Given the description of an element on the screen output the (x, y) to click on. 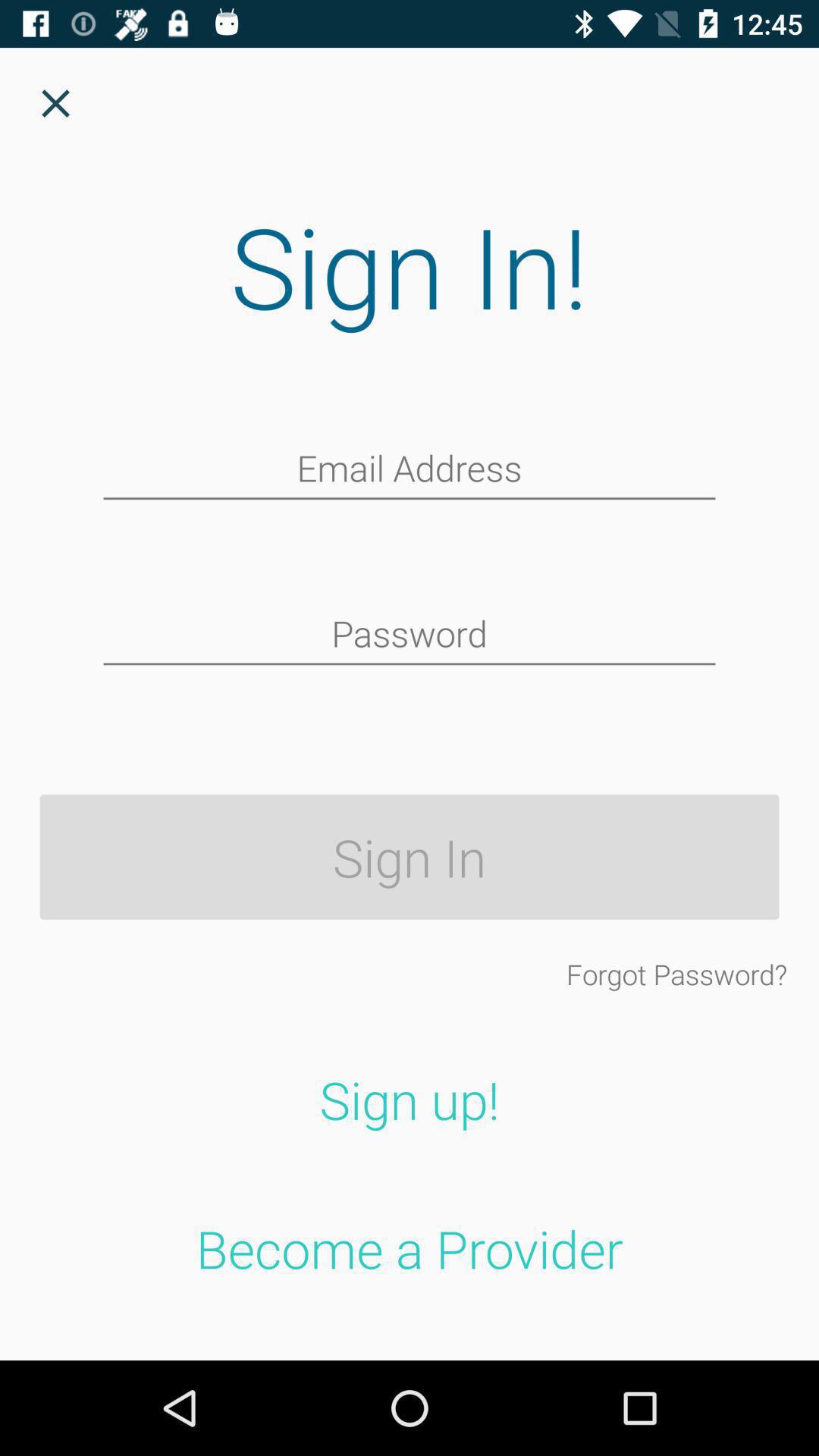
choose the forgot password? (676, 974)
